Given the description of an element on the screen output the (x, y) to click on. 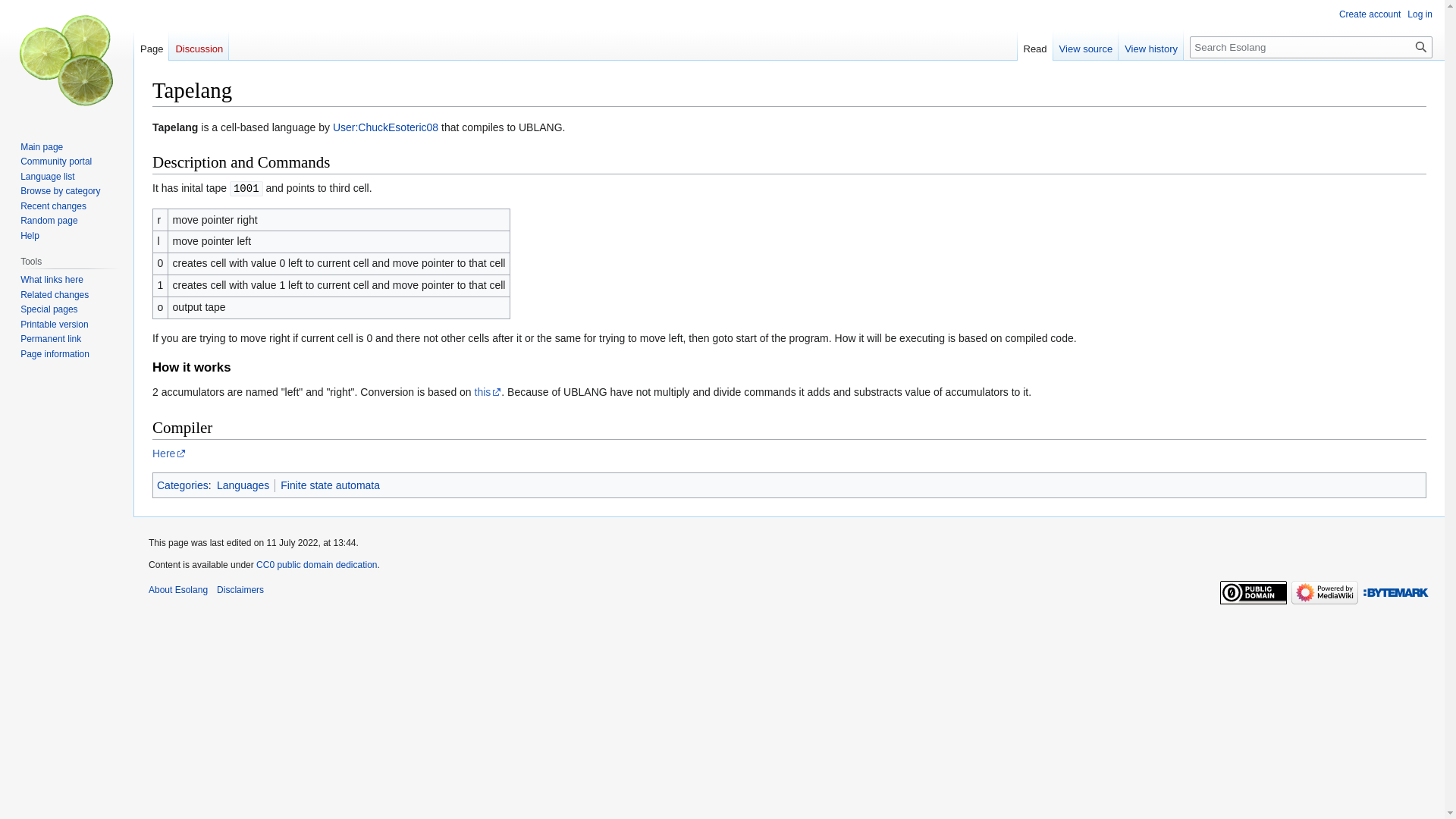
Log in (1419, 14)
Category:Finite state automata (330, 485)
Page (150, 45)
About the project, what you can do, where to find things (55, 161)
About Esolang (178, 589)
Visit the main page (66, 60)
Language list (47, 176)
Related changes (54, 294)
Browse by category (60, 190)
Here (169, 453)
Main page (41, 146)
Special:Categories (182, 485)
Finite state automata (330, 485)
Random page (48, 220)
Discussion (198, 45)
